Given the description of an element on the screen output the (x, y) to click on. 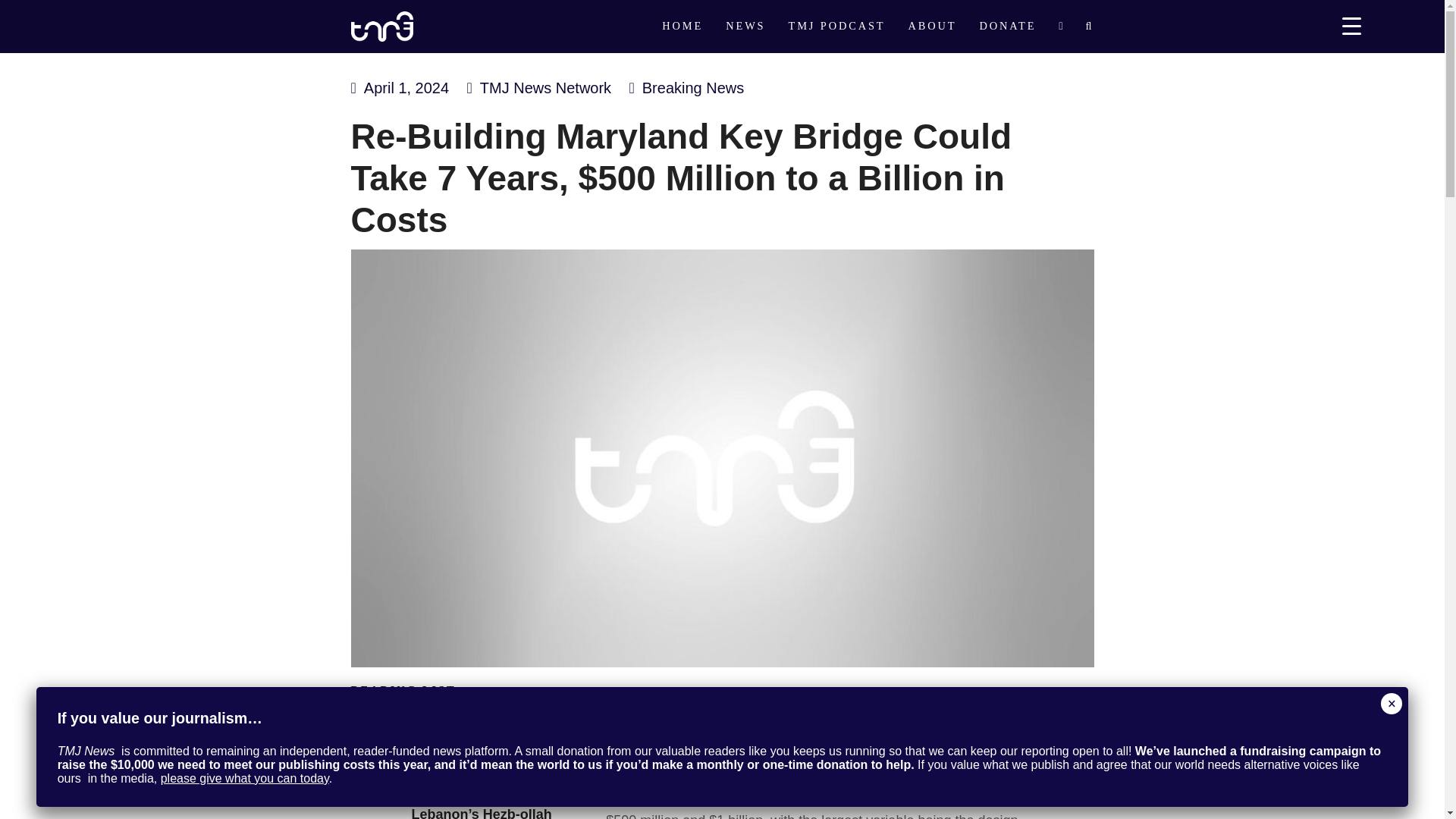
TMJ PODCAST (836, 26)
HOME (682, 26)
NEWS (745, 26)
Breaking News (693, 87)
ABOUT (932, 26)
DONATE (1007, 26)
Posts by TMJ News Network (545, 87)
TMJ News Network (545, 87)
